Given the description of an element on the screen output the (x, y) to click on. 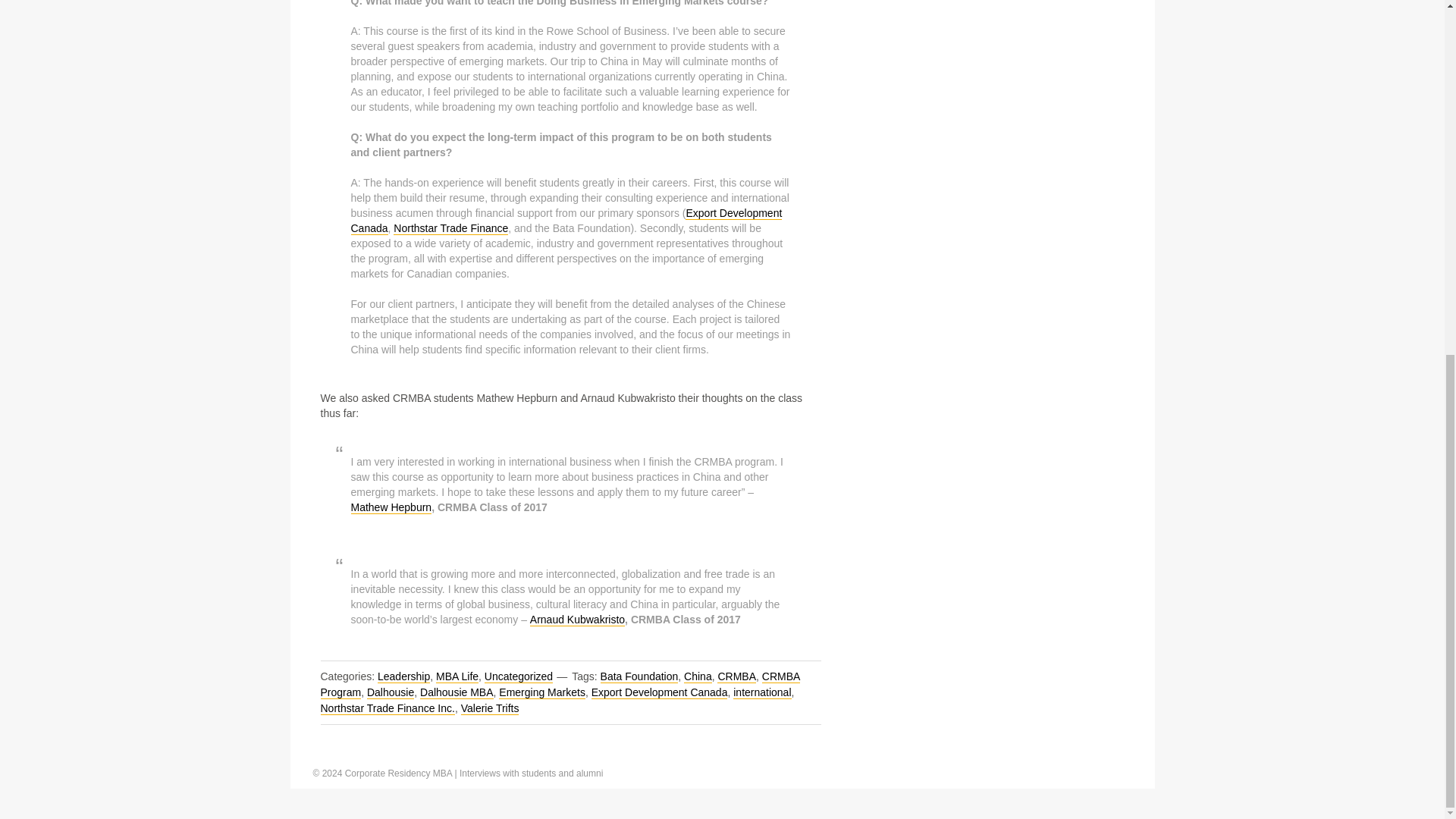
China (697, 676)
Uncategorized (518, 676)
Export Development Canada (565, 221)
MBA Life (457, 676)
Arnaud Kubwakristo (576, 619)
Export Development Canada (659, 692)
Leadership (403, 676)
CRMBA (736, 676)
CRMBA Program (559, 684)
international (761, 692)
Dalhousie MBA (456, 692)
Northstar Trade Finance (450, 228)
Dalhousie (389, 692)
Mathew Hepburn (390, 507)
Northstar Trade Finance Inc. (387, 707)
